Given the description of an element on the screen output the (x, y) to click on. 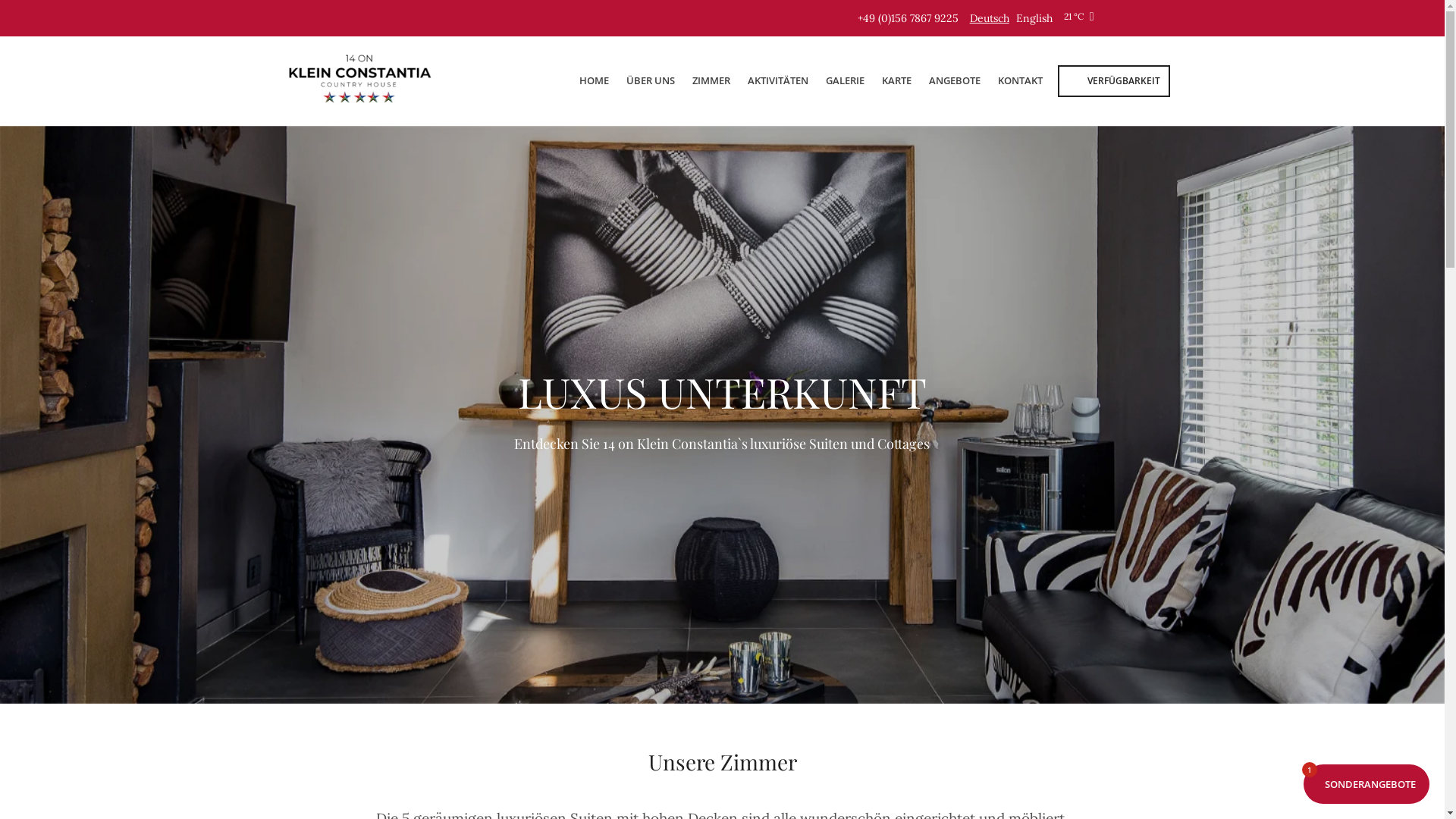
14 on Klein Constantia Element type: hover (360, 79)
HOME Element type: text (593, 80)
+49 (0)156 7867 9225 Element type: text (907, 17)
Deutsch Element type: text (989, 17)
GALERIE Element type: text (844, 80)
SONDERANGEBOTE
1 Element type: text (1366, 783)
English Element type: text (1034, 17)
ANGEBOTE Element type: text (953, 80)
KONTAKT Element type: text (1020, 80)
ZIMMER Element type: text (710, 80)
KARTE Element type: text (895, 80)
